Given the description of an element on the screen output the (x, y) to click on. 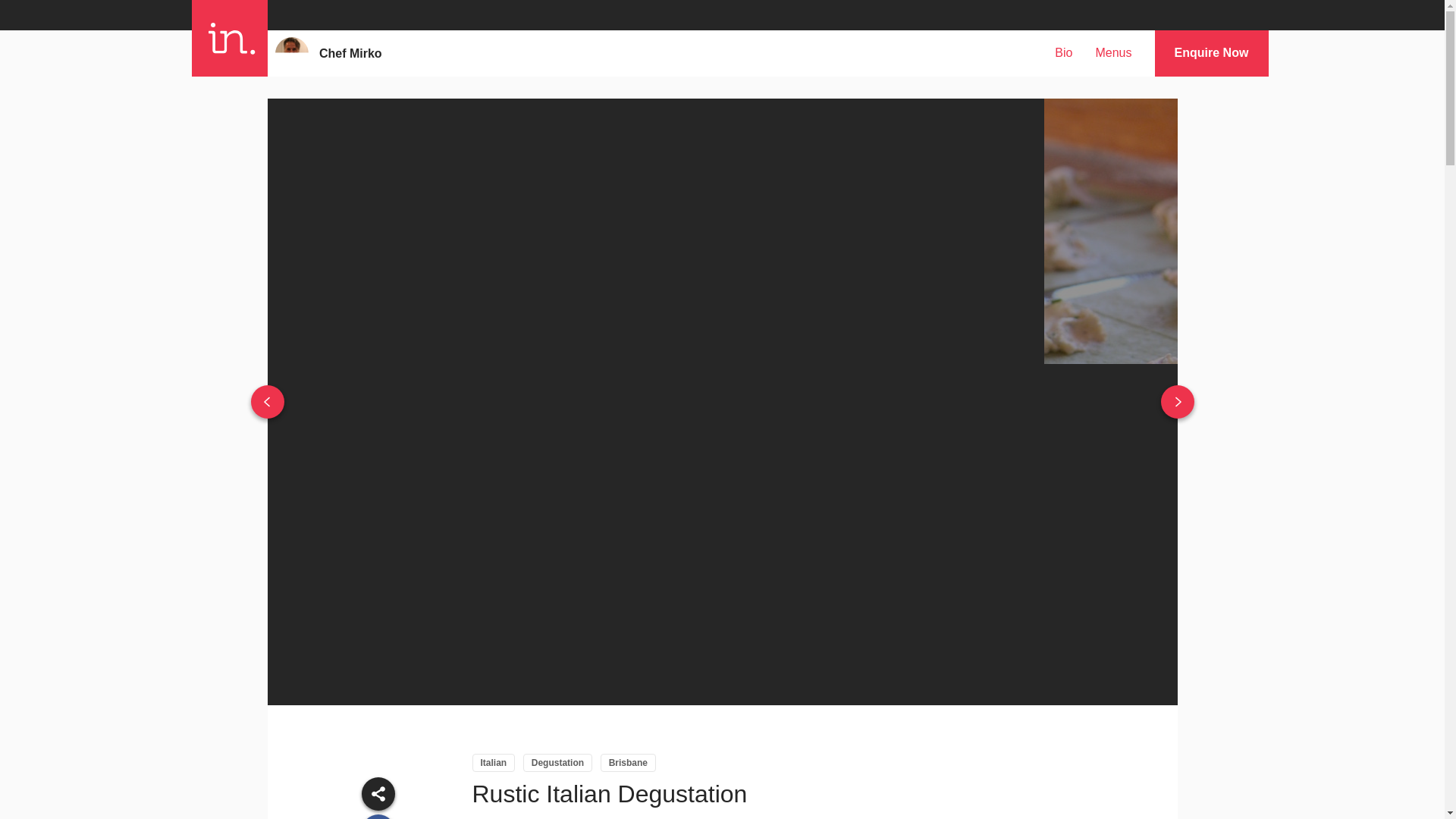
Enquire Now (1211, 53)
Bio (1062, 52)
Facebook (377, 816)
Menus (1112, 52)
